Given the description of an element on the screen output the (x, y) to click on. 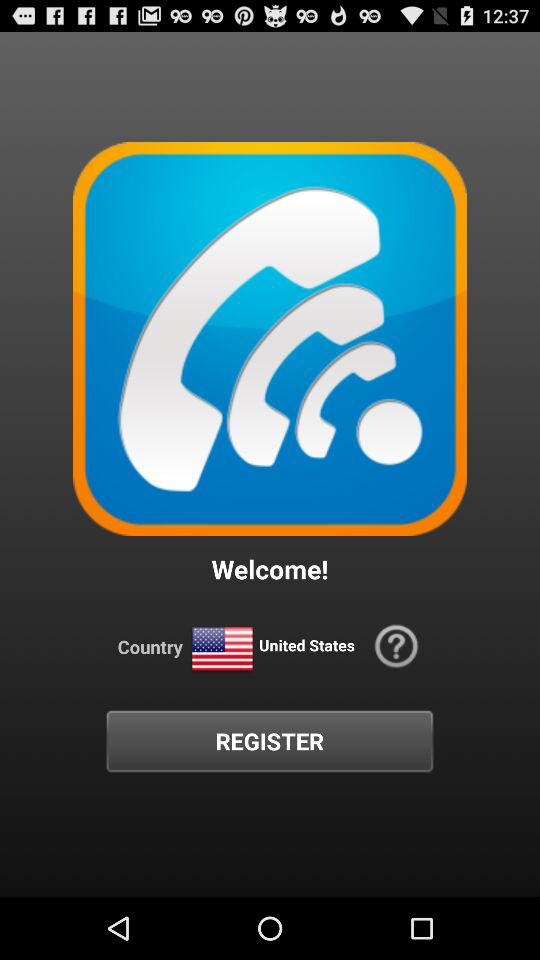
click the button above the register icon (396, 646)
